Given the description of an element on the screen output the (x, y) to click on. 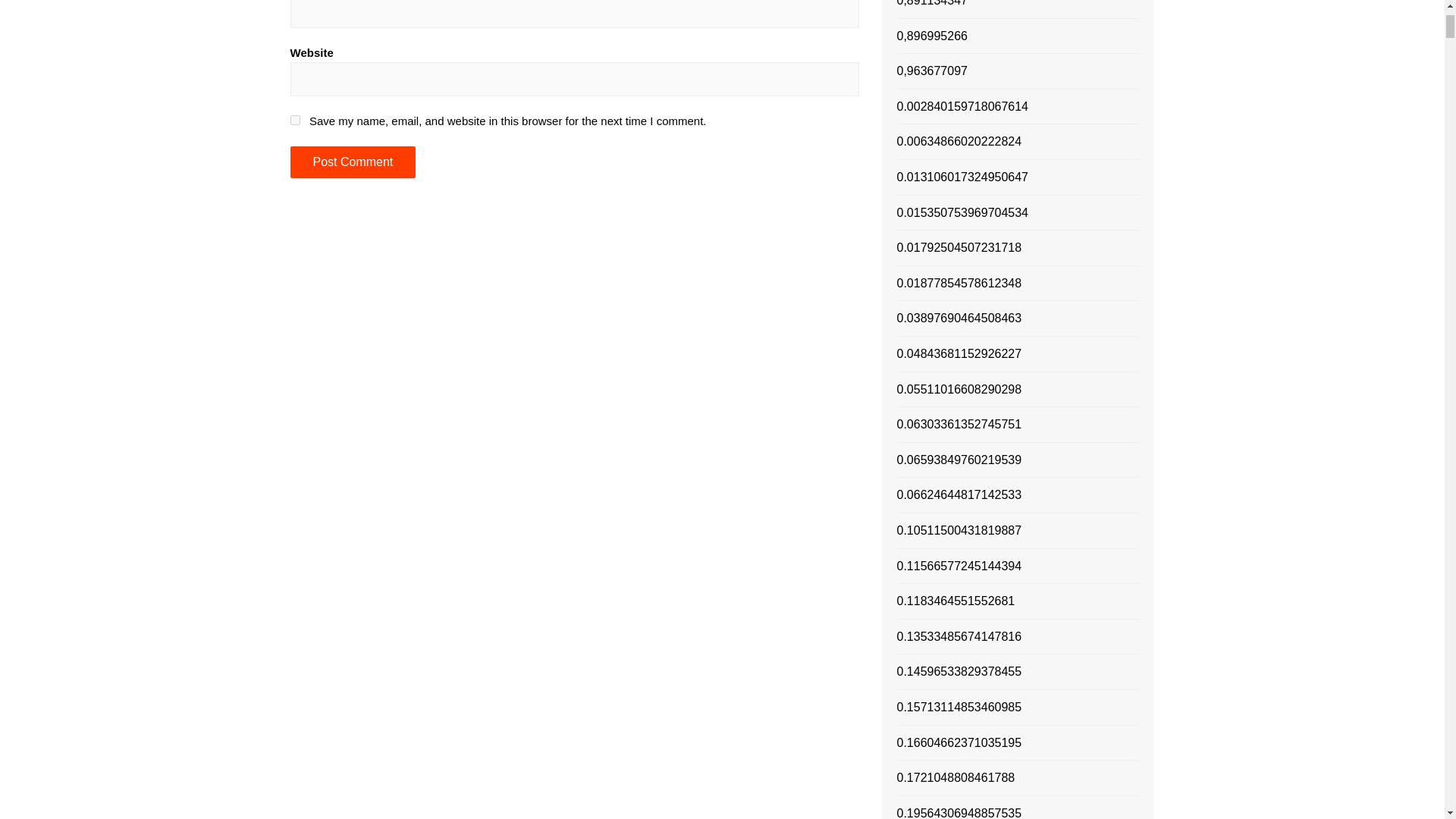
Post Comment (351, 162)
Post Comment (351, 162)
yes (294, 120)
